Given the description of an element on the screen output the (x, y) to click on. 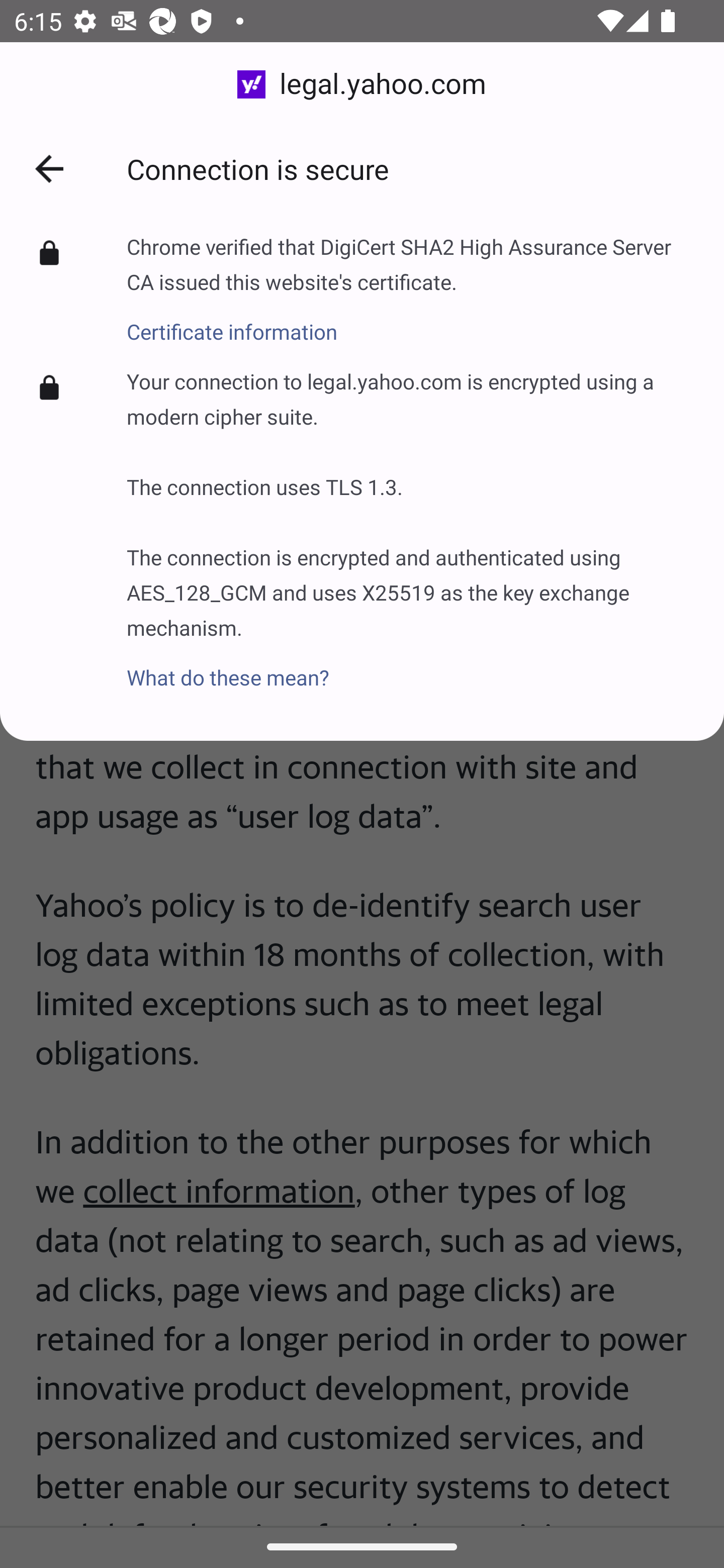
legal.yahoo.com (362, 84)
Back (49, 169)
Certificate information (410, 321)
What do these mean? (410, 666)
